Given the description of an element on the screen output the (x, y) to click on. 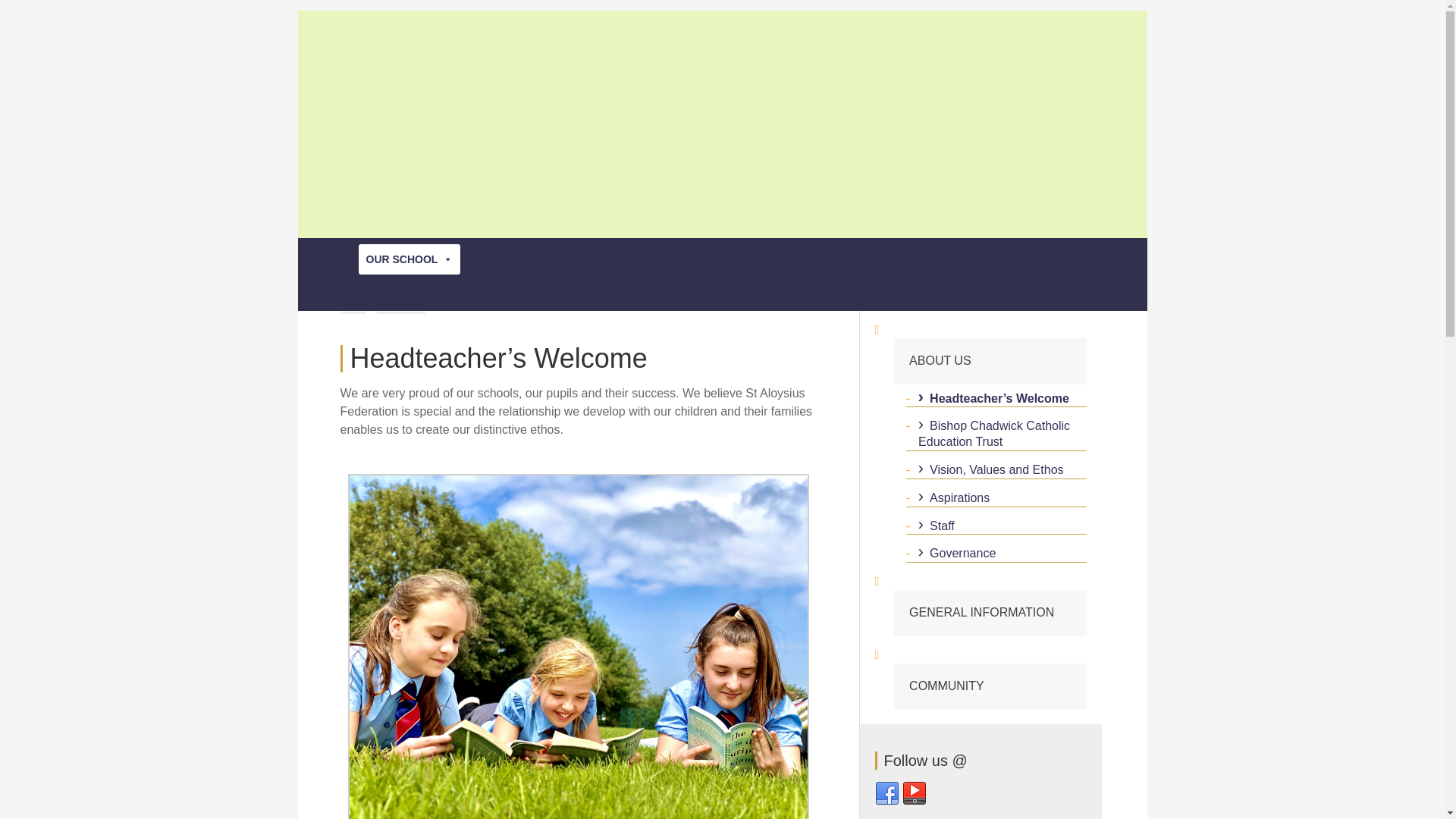
KEY INFORMATION (531, 259)
HOME (326, 259)
OUR SCHOOL (409, 259)
PARENTS (645, 259)
